Given the description of an element on the screen output the (x, y) to click on. 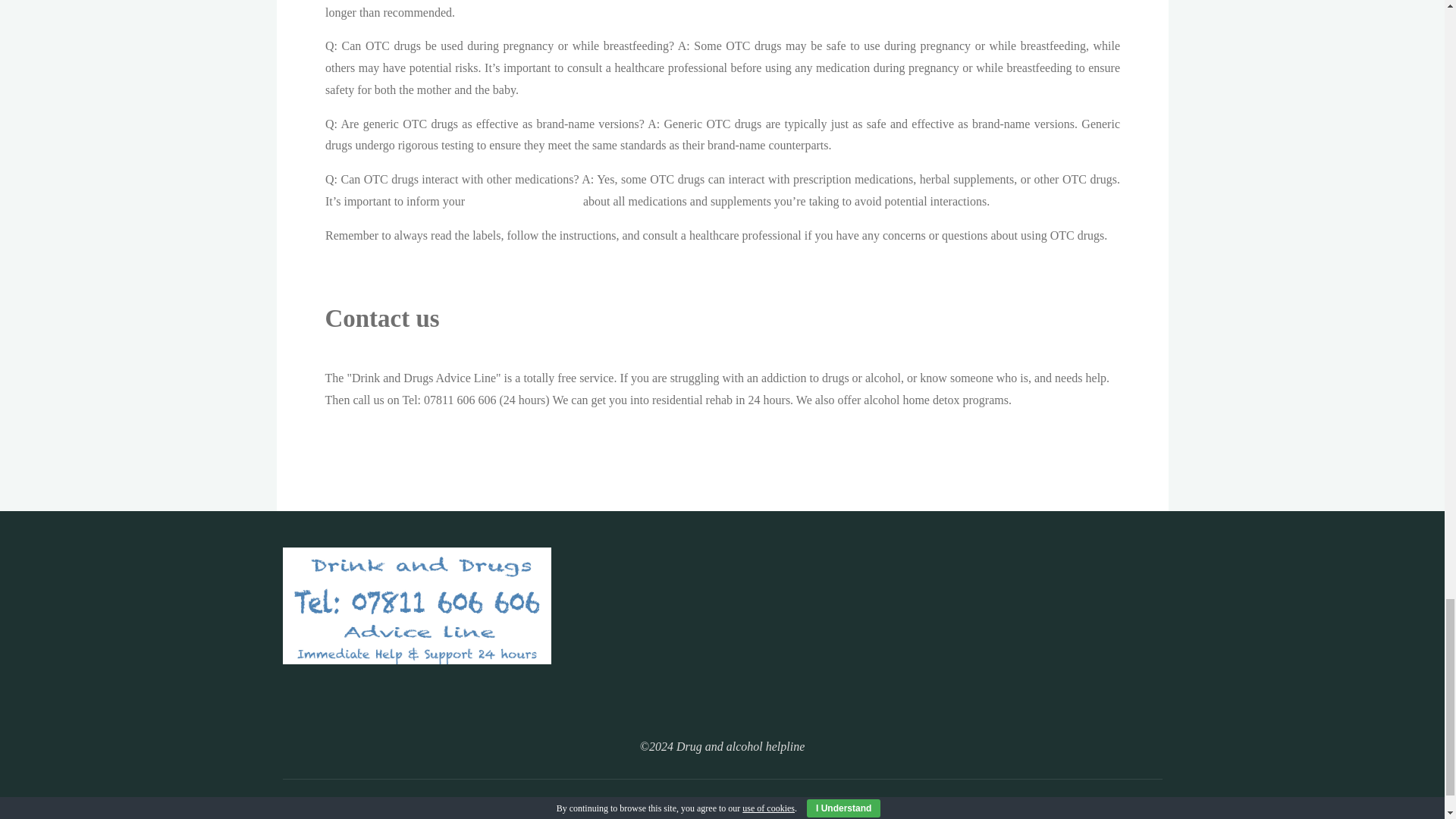
Bravada WordPress Theme by Cryout Creations (715, 810)
Semantic Personal Publishing Platform (778, 810)
